Given the description of an element on the screen output the (x, y) to click on. 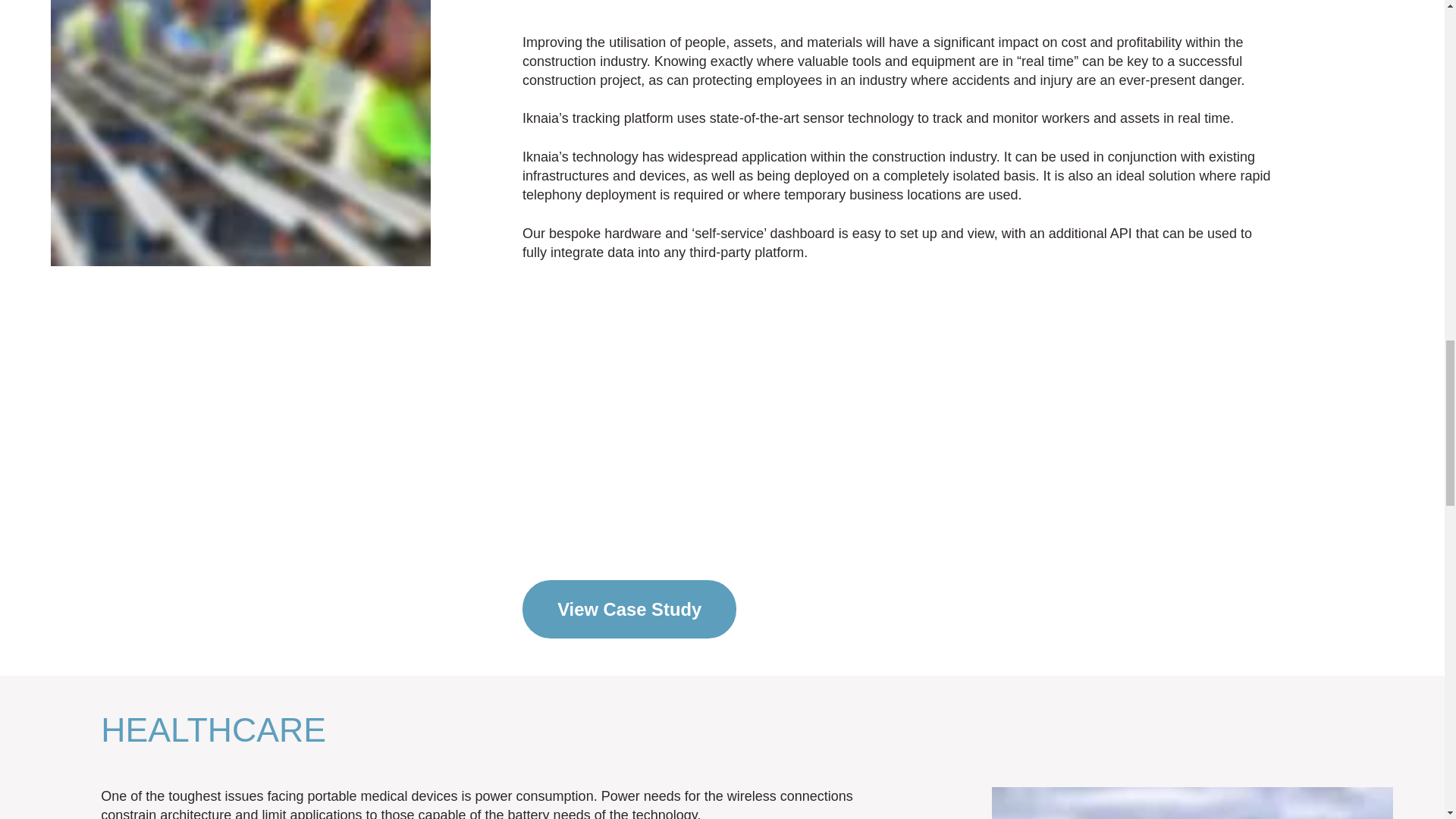
View Case Study (629, 608)
